Given the description of an element on the screen output the (x, y) to click on. 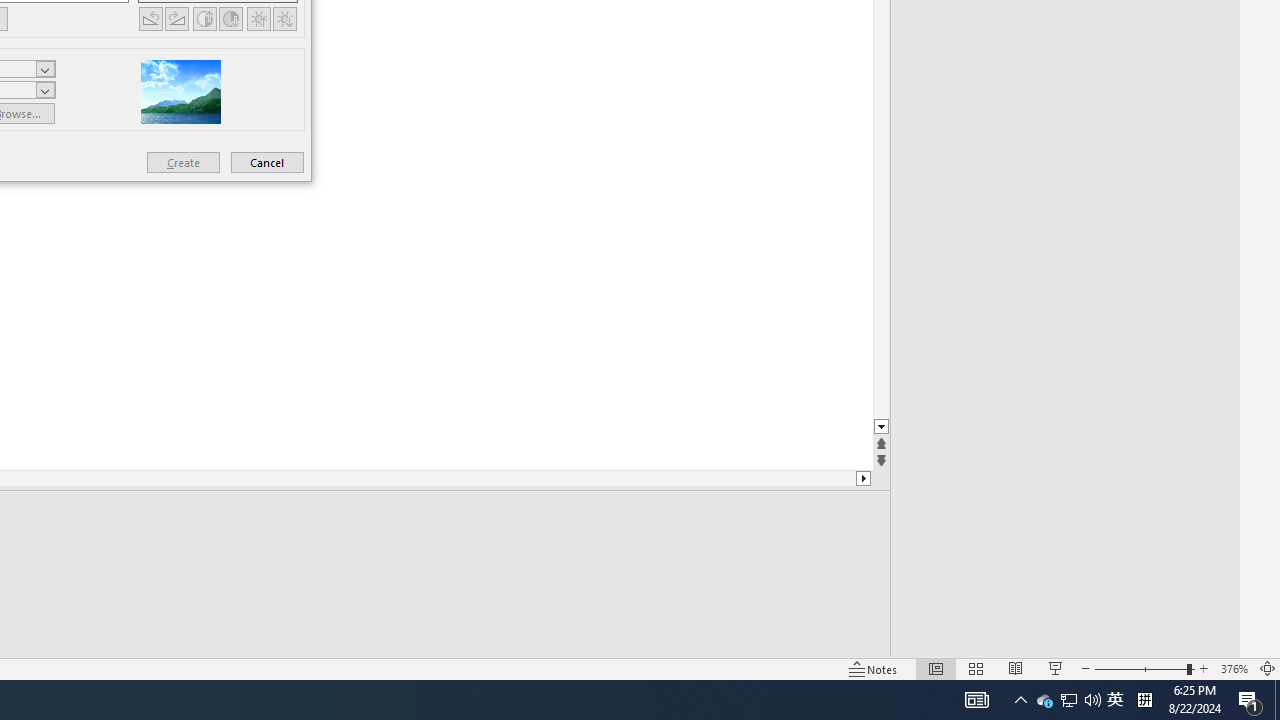
Action Center, 1 new notification (1250, 699)
More Brightness (258, 18)
Create (183, 162)
Less Contrast (230, 18)
